Given the description of an element on the screen output the (x, y) to click on. 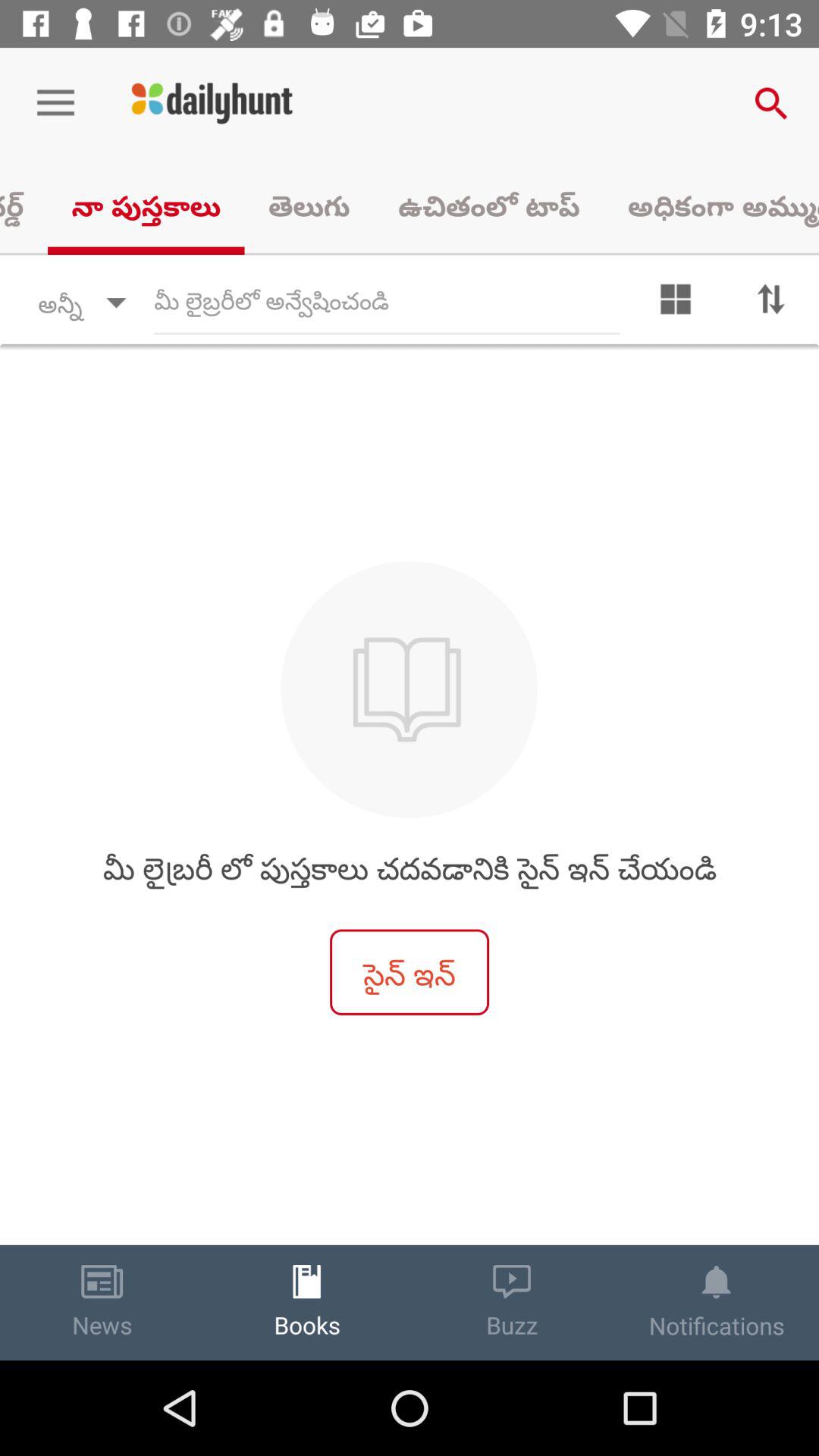
search (386, 302)
